Given the description of an element on the screen output the (x, y) to click on. 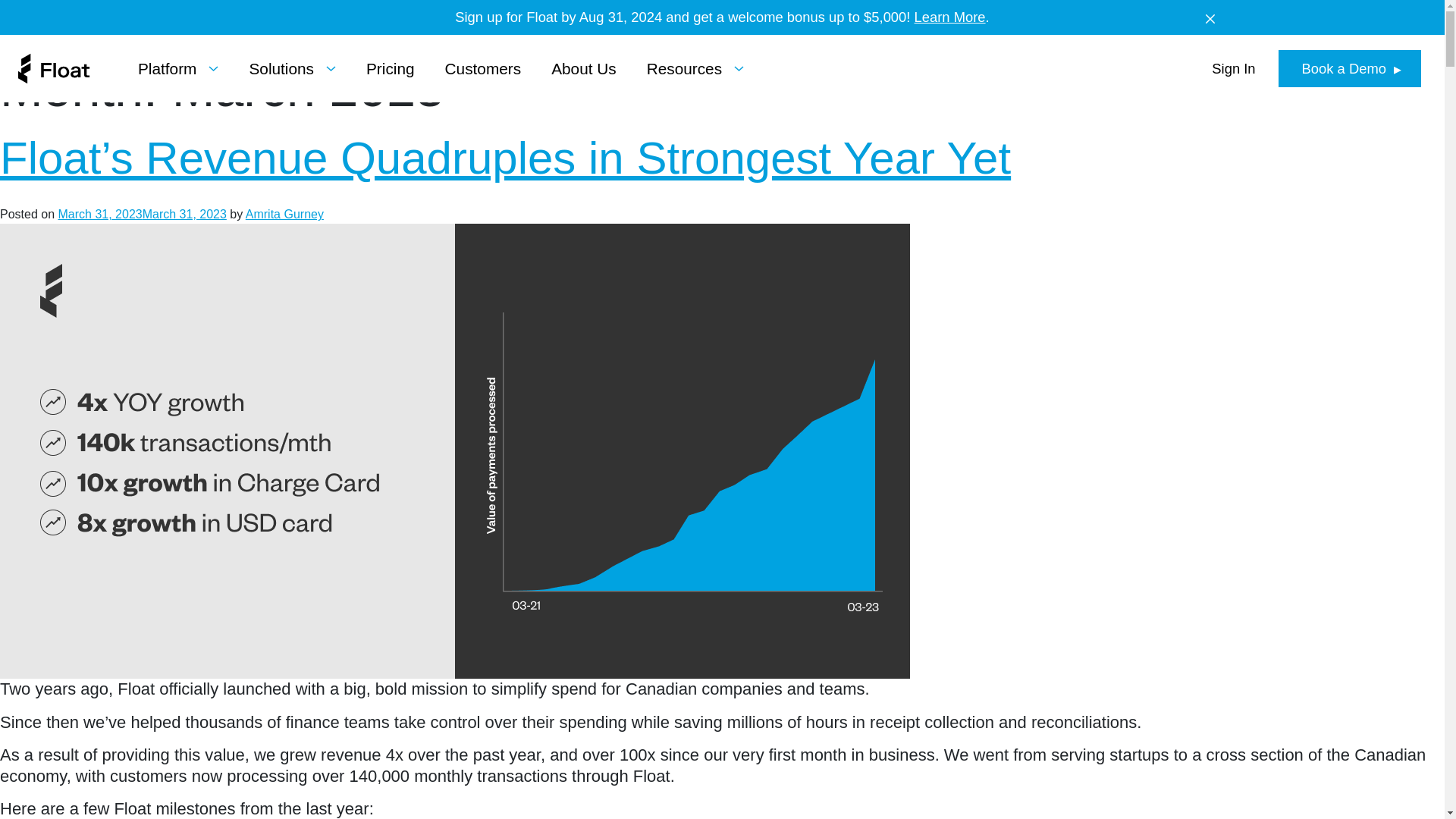
Resources (695, 68)
Customers (483, 68)
About Us (583, 68)
Pricing (390, 68)
Platform (178, 68)
Learn More (949, 17)
Solutions (292, 68)
